Given the description of an element on the screen output the (x, y) to click on. 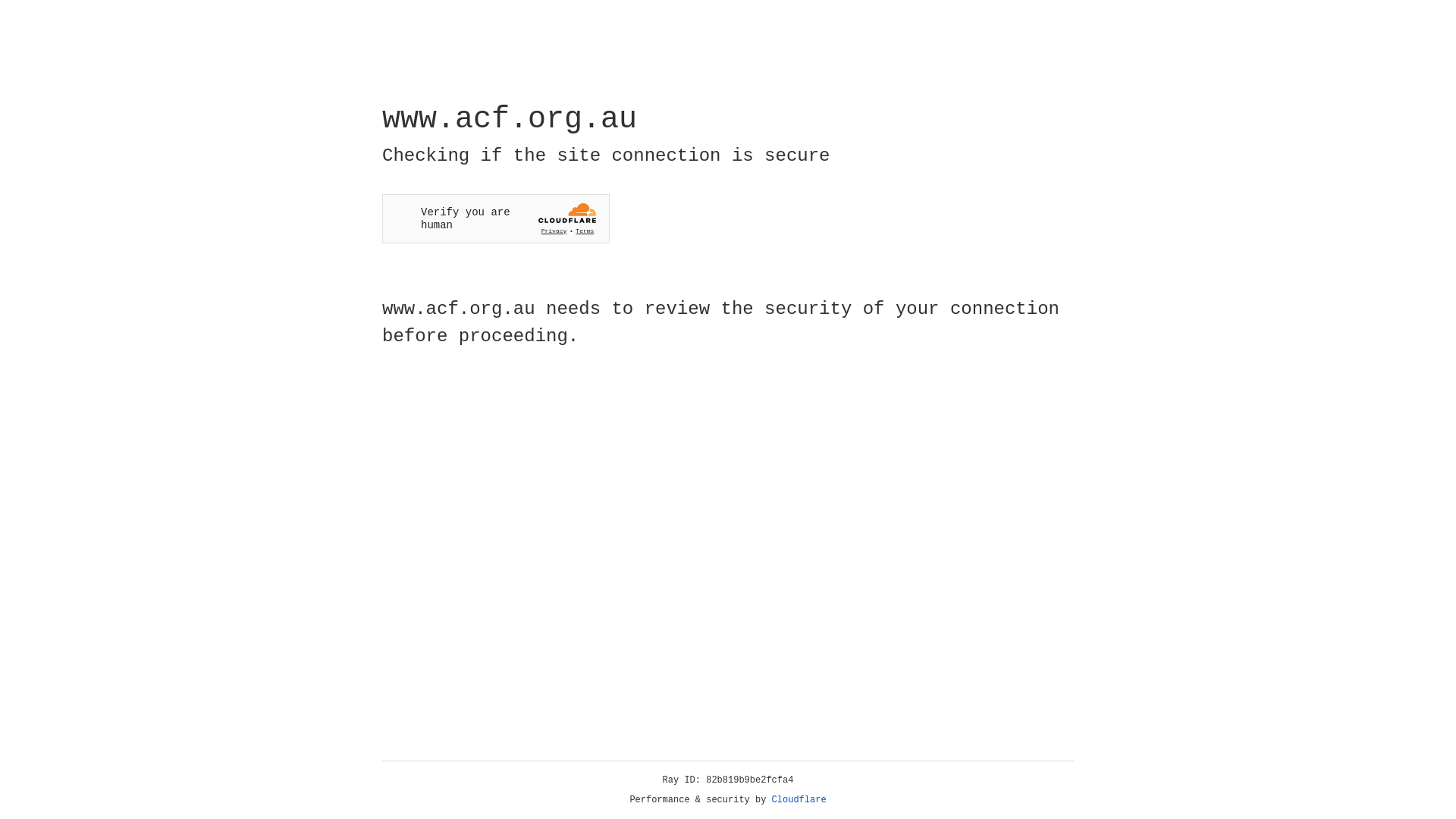
Cloudflare Element type: text (798, 799)
Widget containing a Cloudflare security challenge Element type: hover (495, 218)
